Given the description of an element on the screen output the (x, y) to click on. 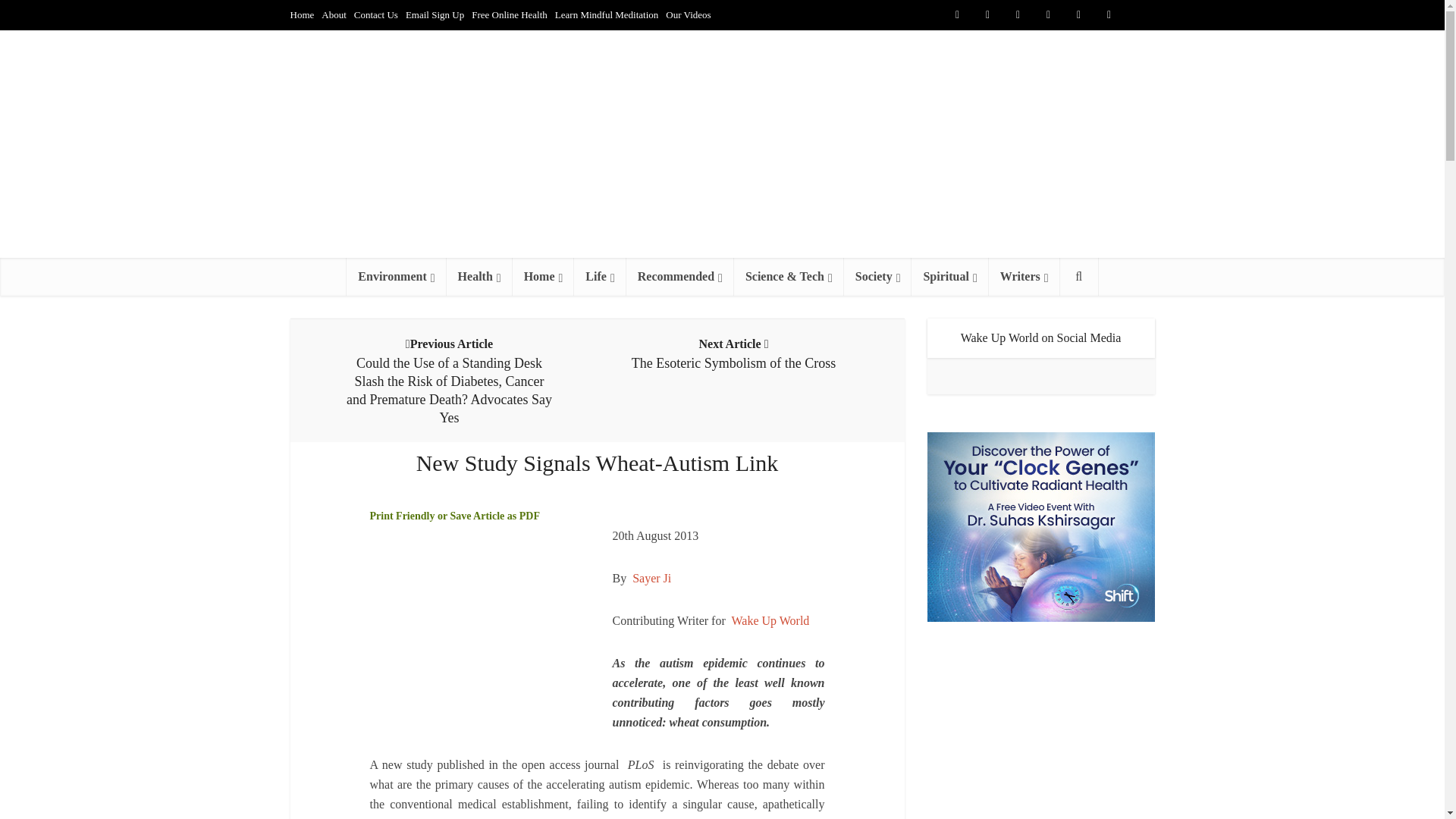
Our Videos (687, 14)
Free Online Health (509, 14)
Articles recommended by WuW (679, 276)
Further articles by Sayer (651, 577)
Health (479, 276)
Contact Us (375, 14)
Learn Mindful Meditation (606, 14)
About (333, 14)
Environment (395, 276)
Email Sign Up (435, 14)
Telegram (1139, 15)
Home (301, 14)
